Given the description of an element on the screen output the (x, y) to click on. 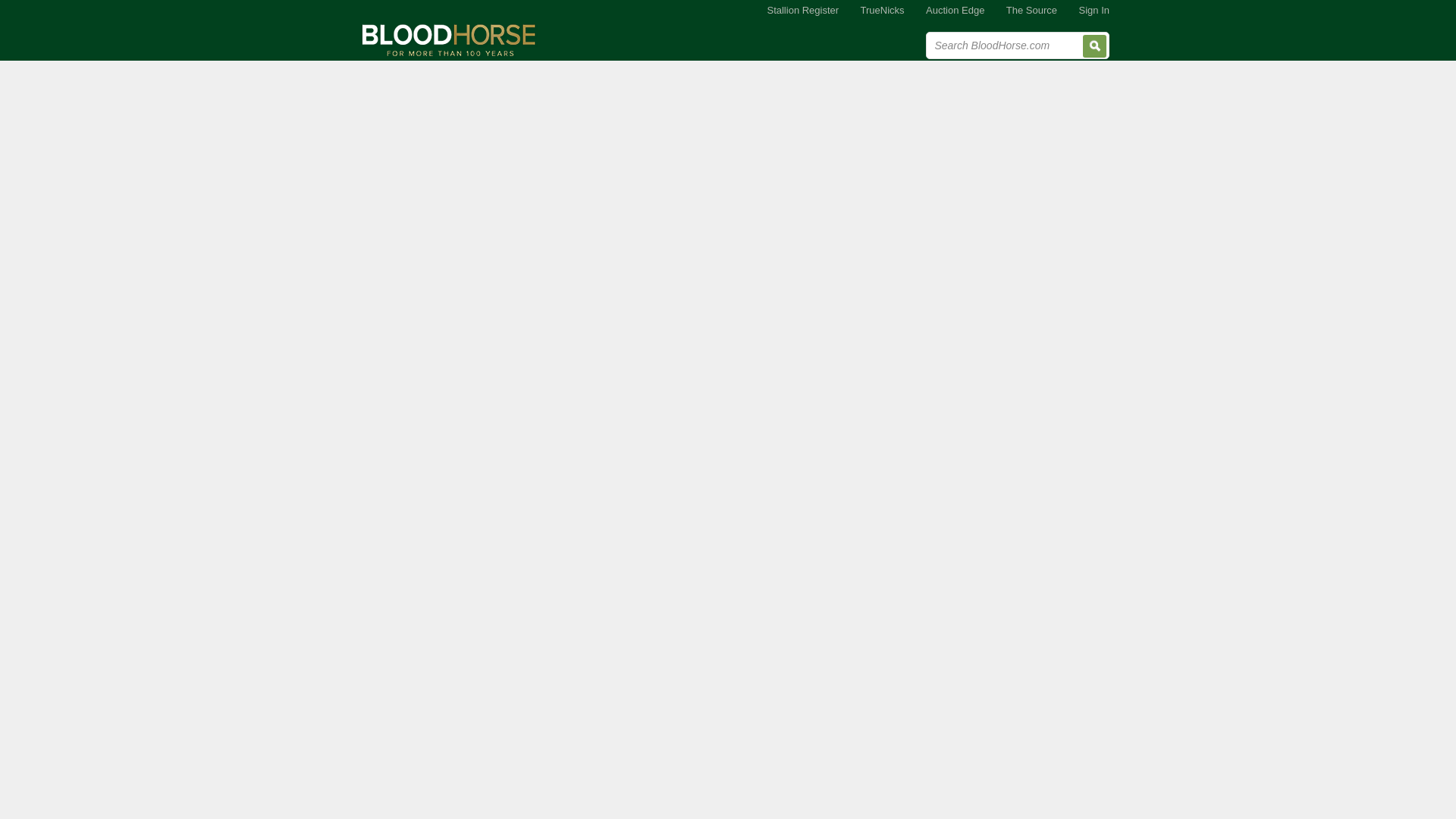
Blood-Horse: Thoroughbred Horse Racing News (449, 40)
Auction Edge (954, 10)
Search (1094, 46)
Search (1094, 46)
TrueNicks (882, 10)
The Source (1031, 10)
Sign In (1094, 10)
Stallion Register (802, 10)
